Given the description of an element on the screen output the (x, y) to click on. 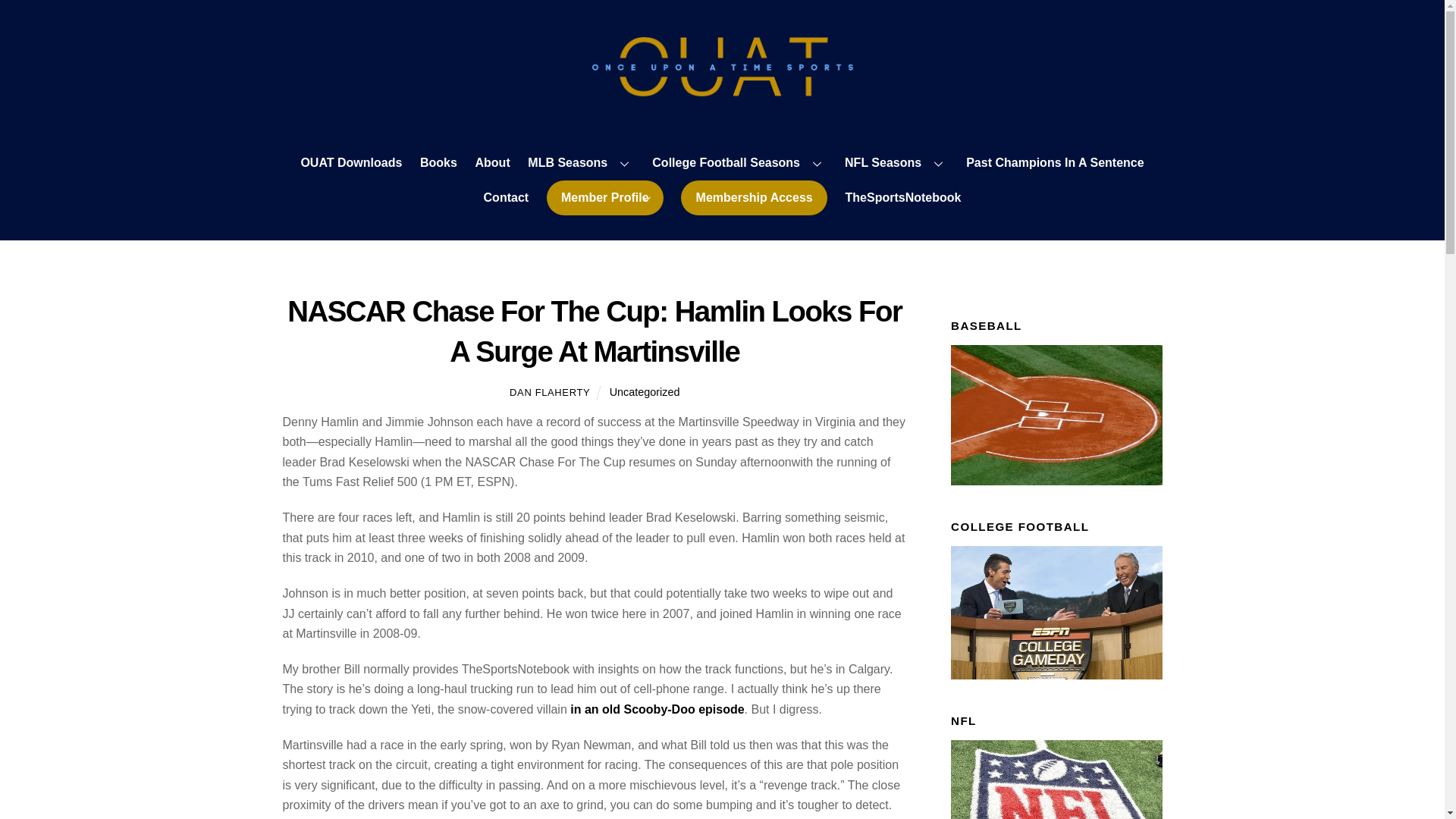
OUAT Sports (722, 91)
MLB Seasons (581, 163)
About (491, 163)
Books (438, 163)
OUAT Downloads (351, 163)
